Given the description of an element on the screen output the (x, y) to click on. 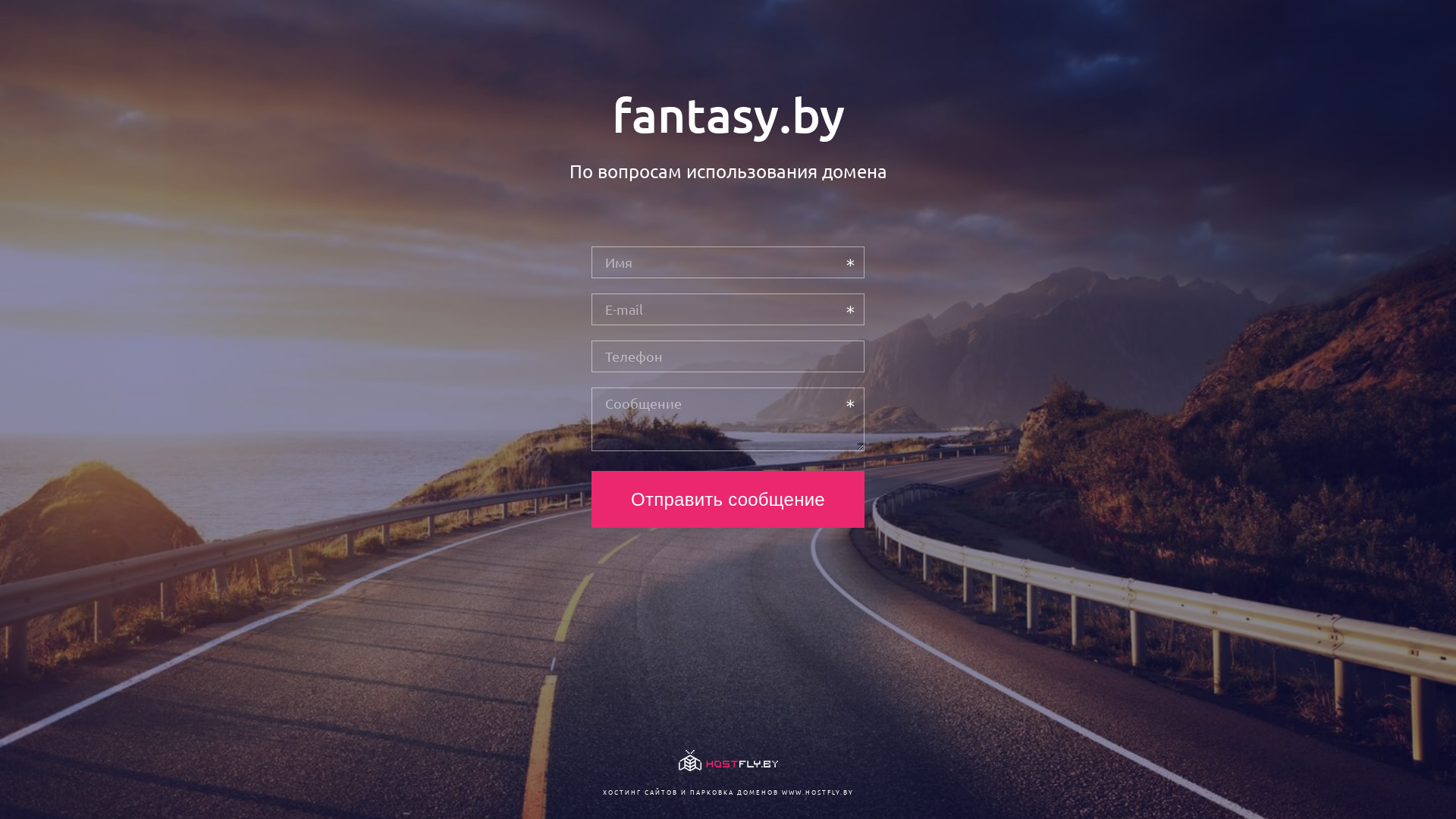
WWW.HOSTFLY.BY Element type: text (817, 791)
